Given the description of an element on the screen output the (x, y) to click on. 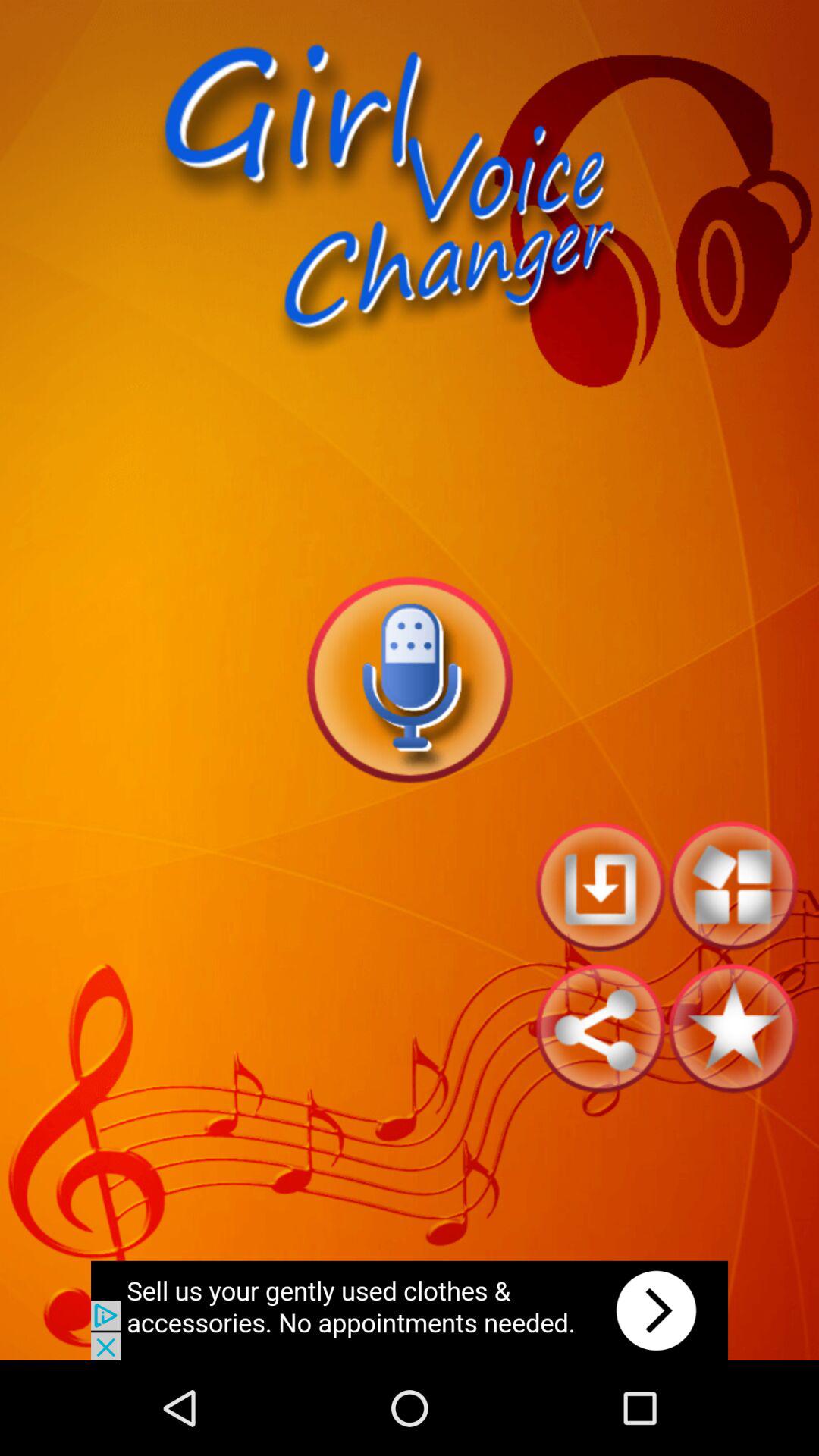
clicks the advertisement (409, 1310)
